Given the description of an element on the screen output the (x, y) to click on. 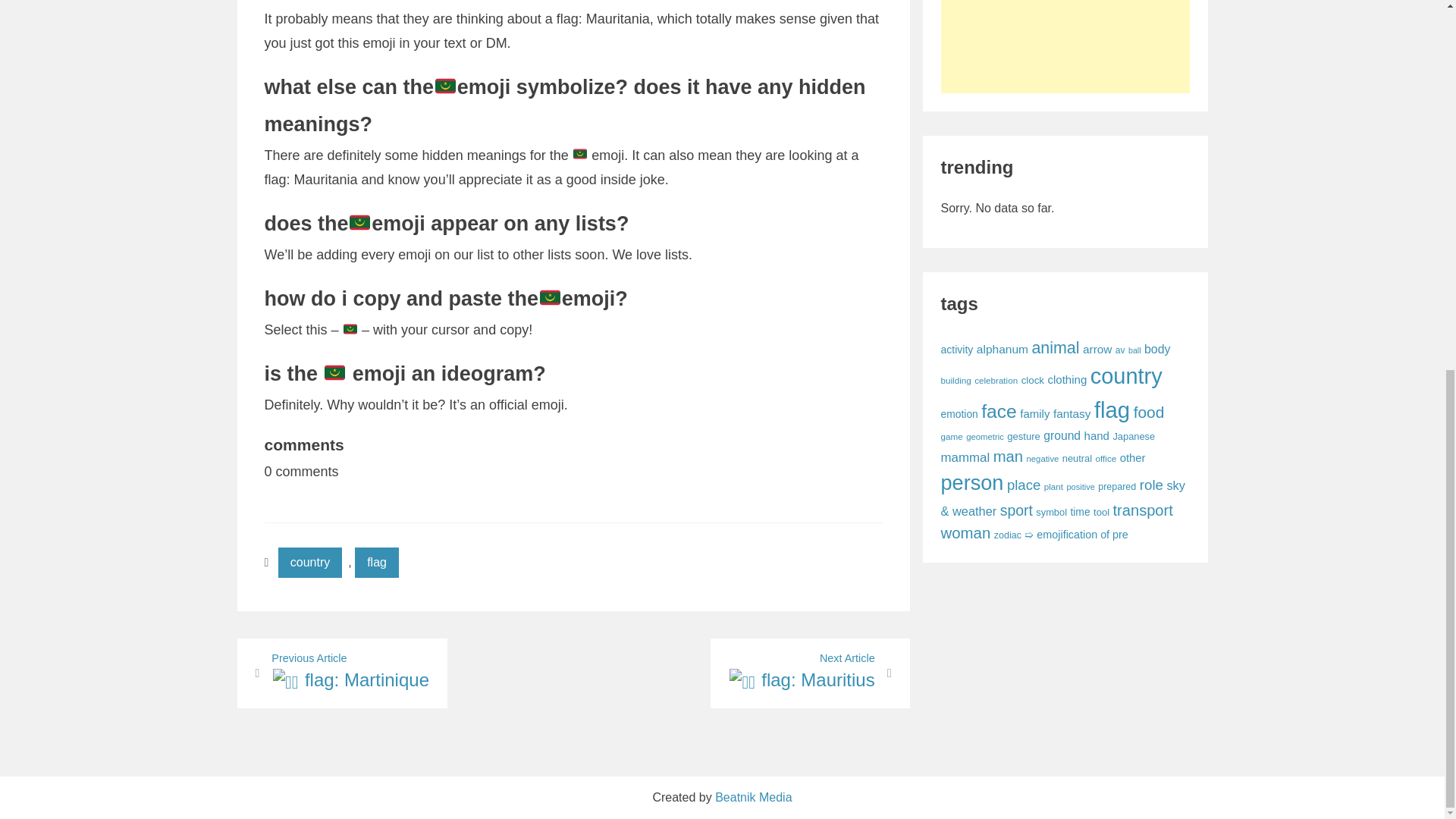
country (310, 562)
game (951, 436)
celebration (995, 379)
family (1034, 413)
clothing (1066, 379)
arrow (1097, 349)
flag (1111, 409)
Advertisement (1070, 47)
building (955, 379)
clock (810, 673)
face (1032, 379)
av (998, 411)
alphanum (1120, 349)
food (1001, 349)
